Given the description of an element on the screen output the (x, y) to click on. 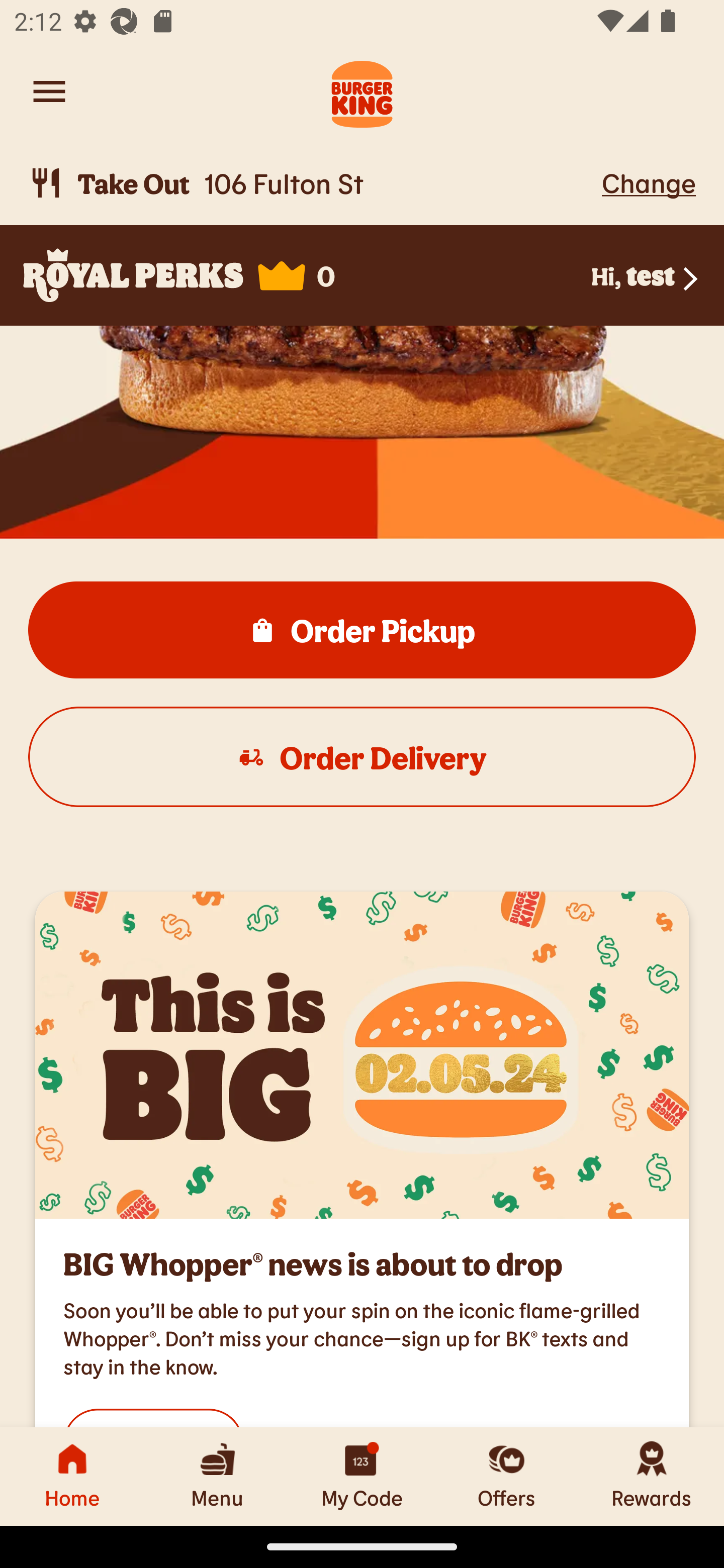
Burger King Logo. Navigate to Home (362, 91)
Navigate to account menu  (49, 91)
Take Out, 106 Fulton St  Take Out 106 Fulton St (311, 183)
Change (648, 182)
, Order Pickup  Order Pickup (361, 629)
, Order Delivery  Order Delivery (361, 757)
MDW Teaser Auth App (361, 1055)
Home (72, 1475)
Menu (216, 1475)
My Code (361, 1475)
Offers (506, 1475)
Rewards (651, 1475)
